Given the description of an element on the screen output the (x, y) to click on. 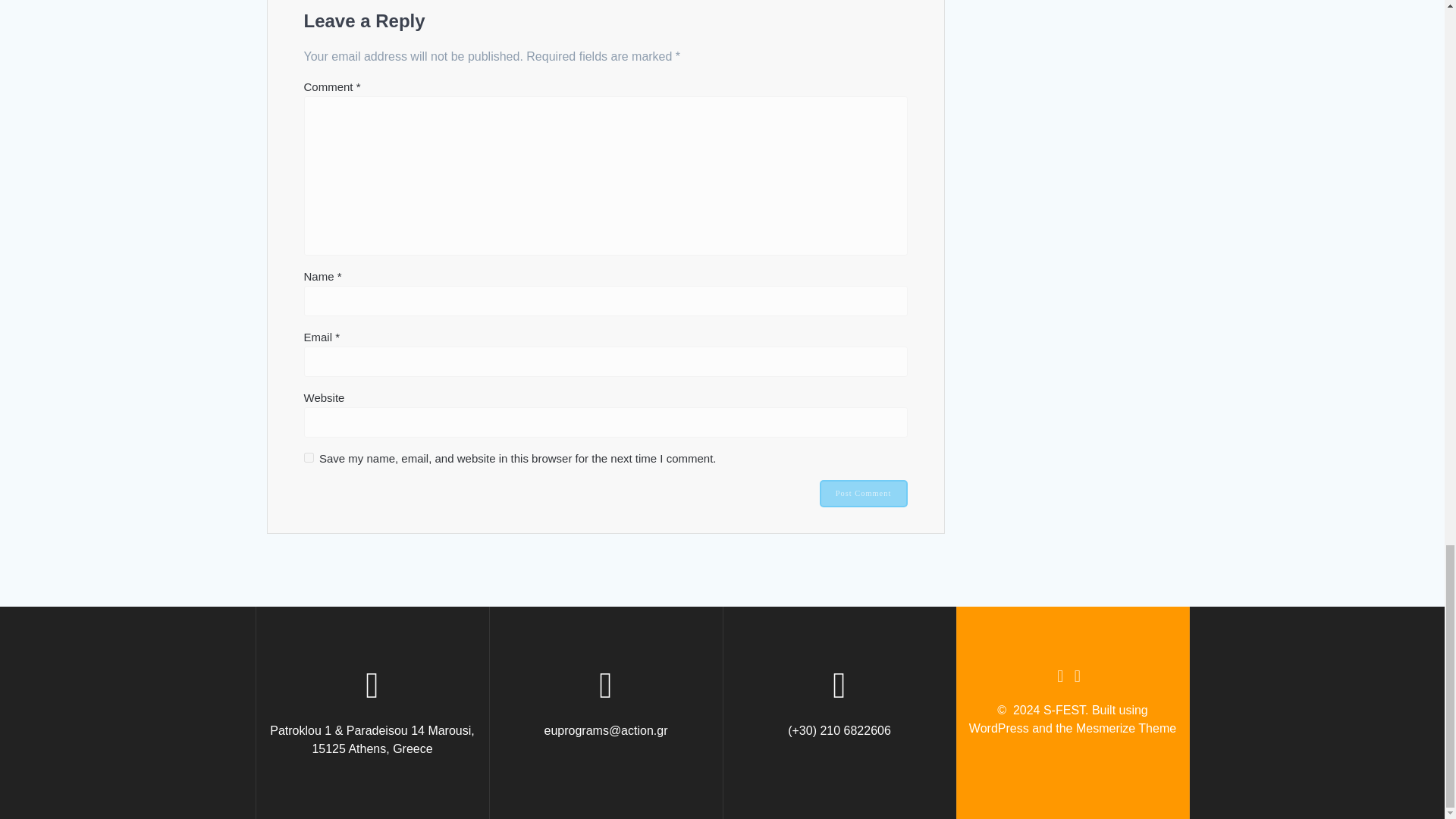
Post Comment (863, 492)
Mesmerize Theme (1125, 727)
Post Comment (863, 492)
yes (307, 457)
